Given the description of an element on the screen output the (x, y) to click on. 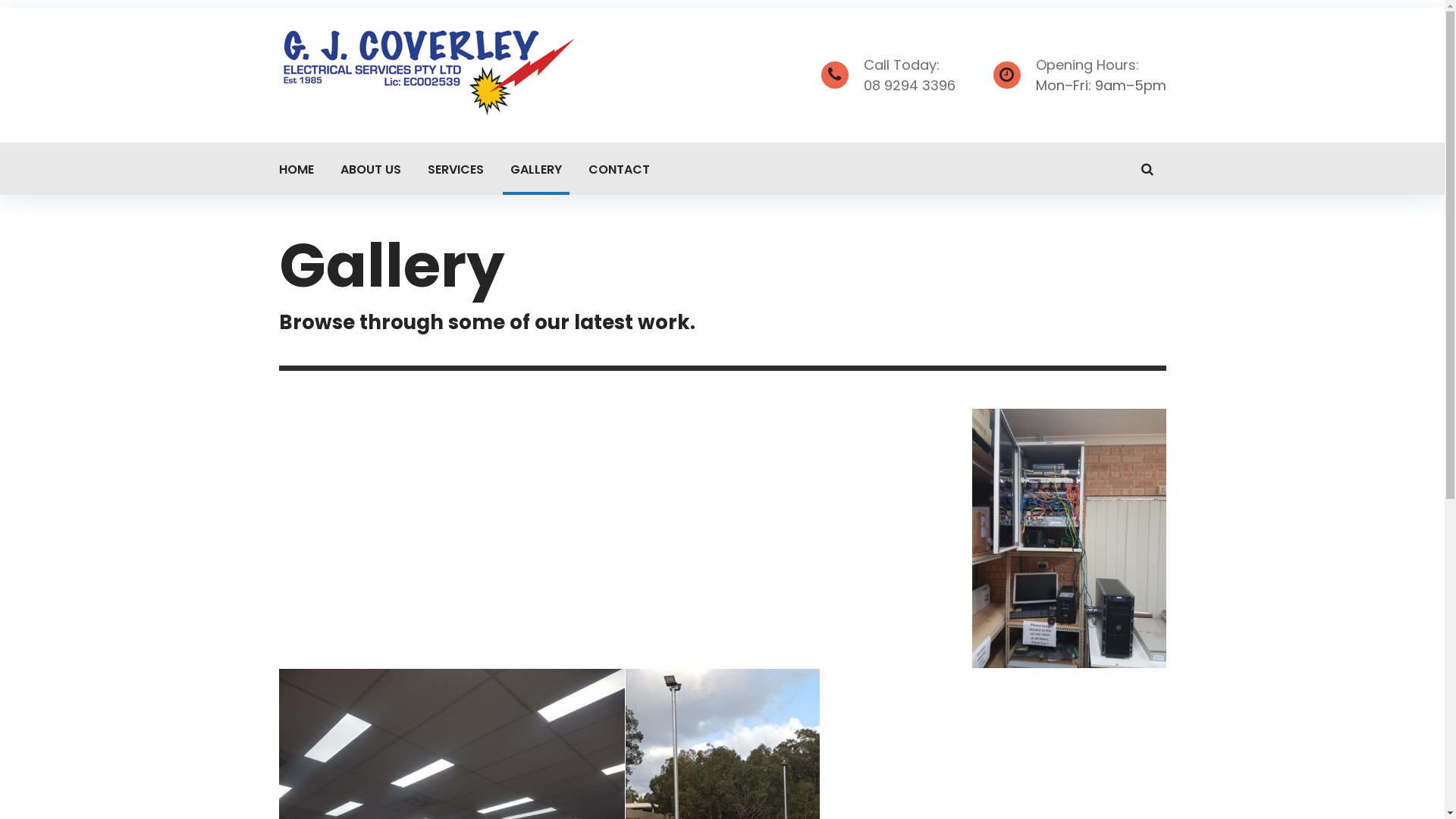
SERVICES Element type: text (455, 168)
GALLERY Element type: text (535, 168)
Skip to content Element type: text (0, 0)
ABOUT US Element type: text (369, 168)
CONTACT Element type: text (618, 168)
HOME Element type: text (296, 168)
